Given the description of an element on the screen output the (x, y) to click on. 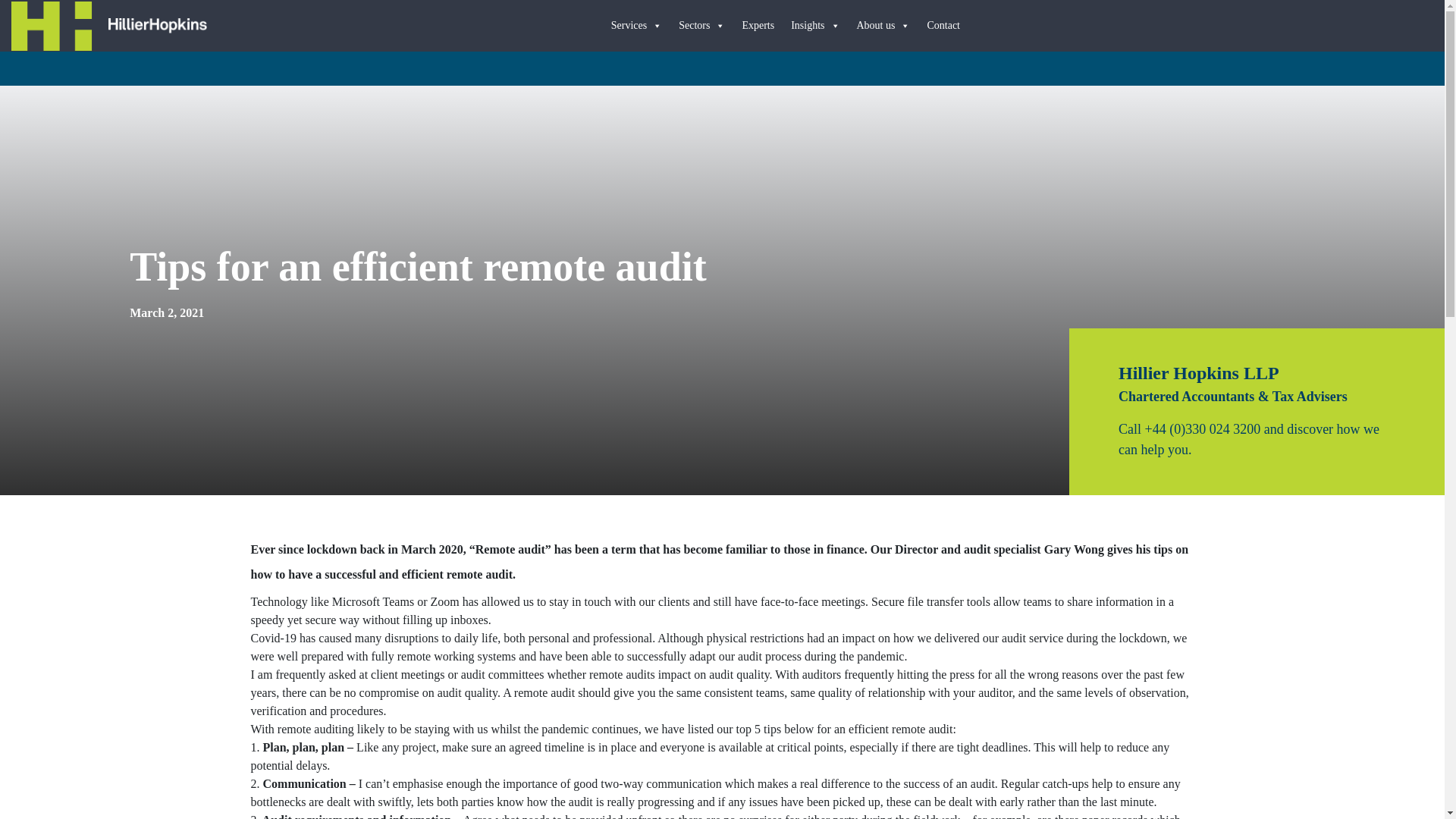
Sectors (702, 25)
Services (637, 25)
